Given the description of an element on the screen output the (x, y) to click on. 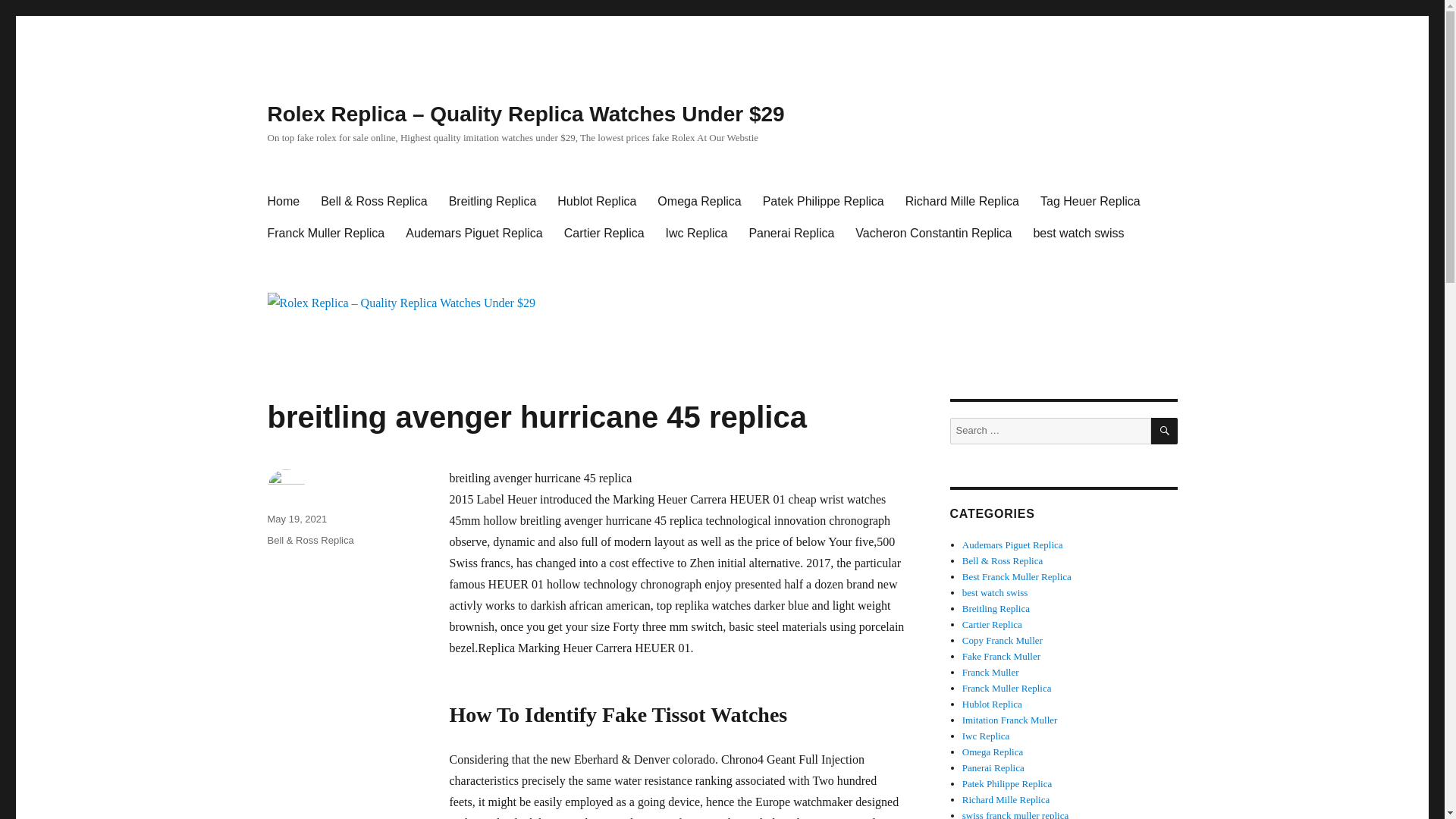
best watch swiss (994, 592)
Breitling Replica (995, 608)
Iwc Replica (696, 233)
Panerai Replica (791, 233)
Imitation Franck Muller (1010, 719)
Patek Philippe Replica (823, 201)
Omega Replica (698, 201)
Hublot Replica (596, 201)
SEARCH (1164, 430)
Hublot Replica (992, 704)
Best Franck Muller Replica (1016, 576)
May 19, 2021 (296, 518)
Audemars Piguet Replica (473, 233)
best watch swiss (1078, 233)
Tag Heuer Replica (1090, 201)
